Given the description of an element on the screen output the (x, y) to click on. 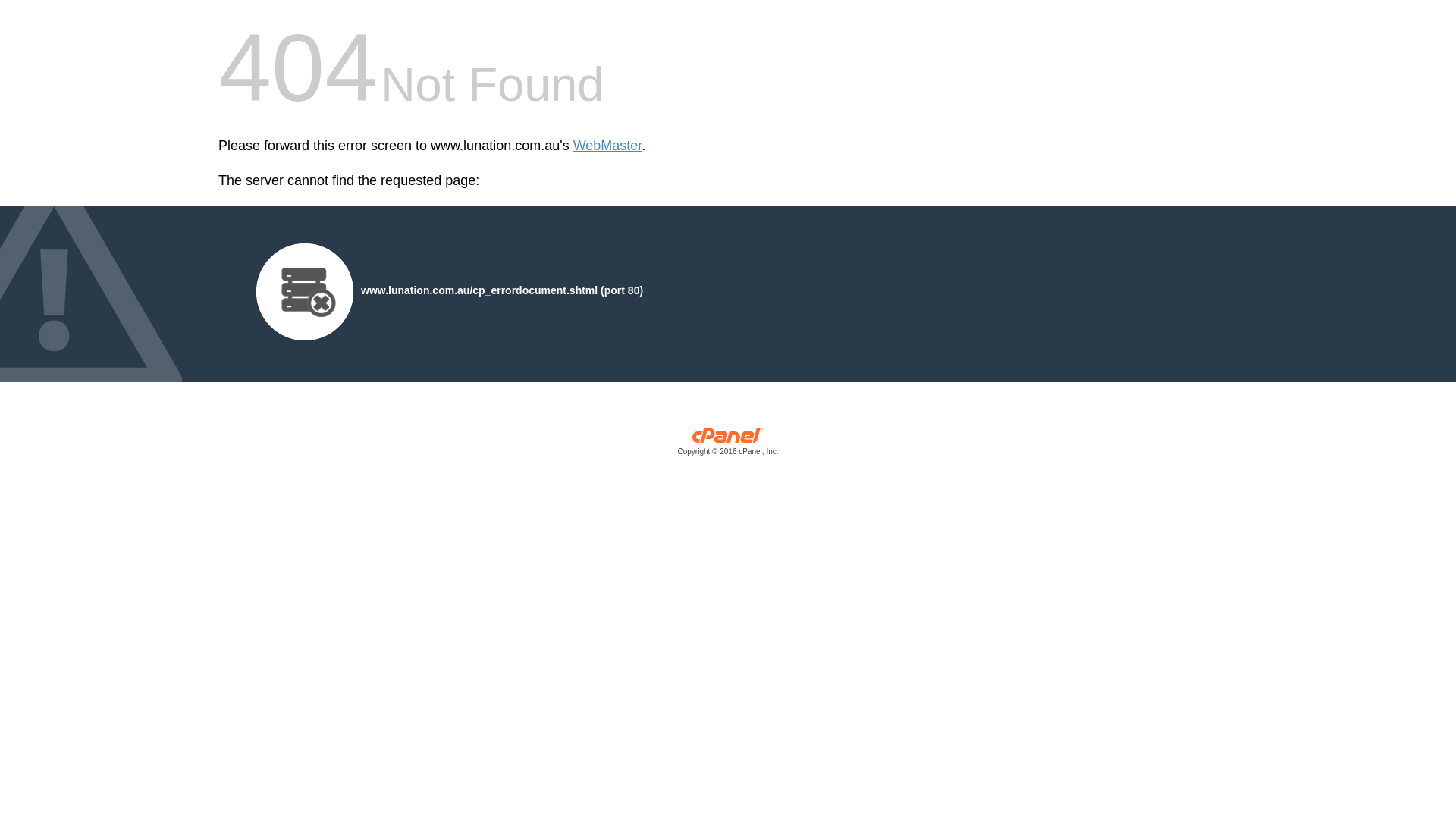
WebMaster Element type: text (607, 145)
